Given the description of an element on the screen output the (x, y) to click on. 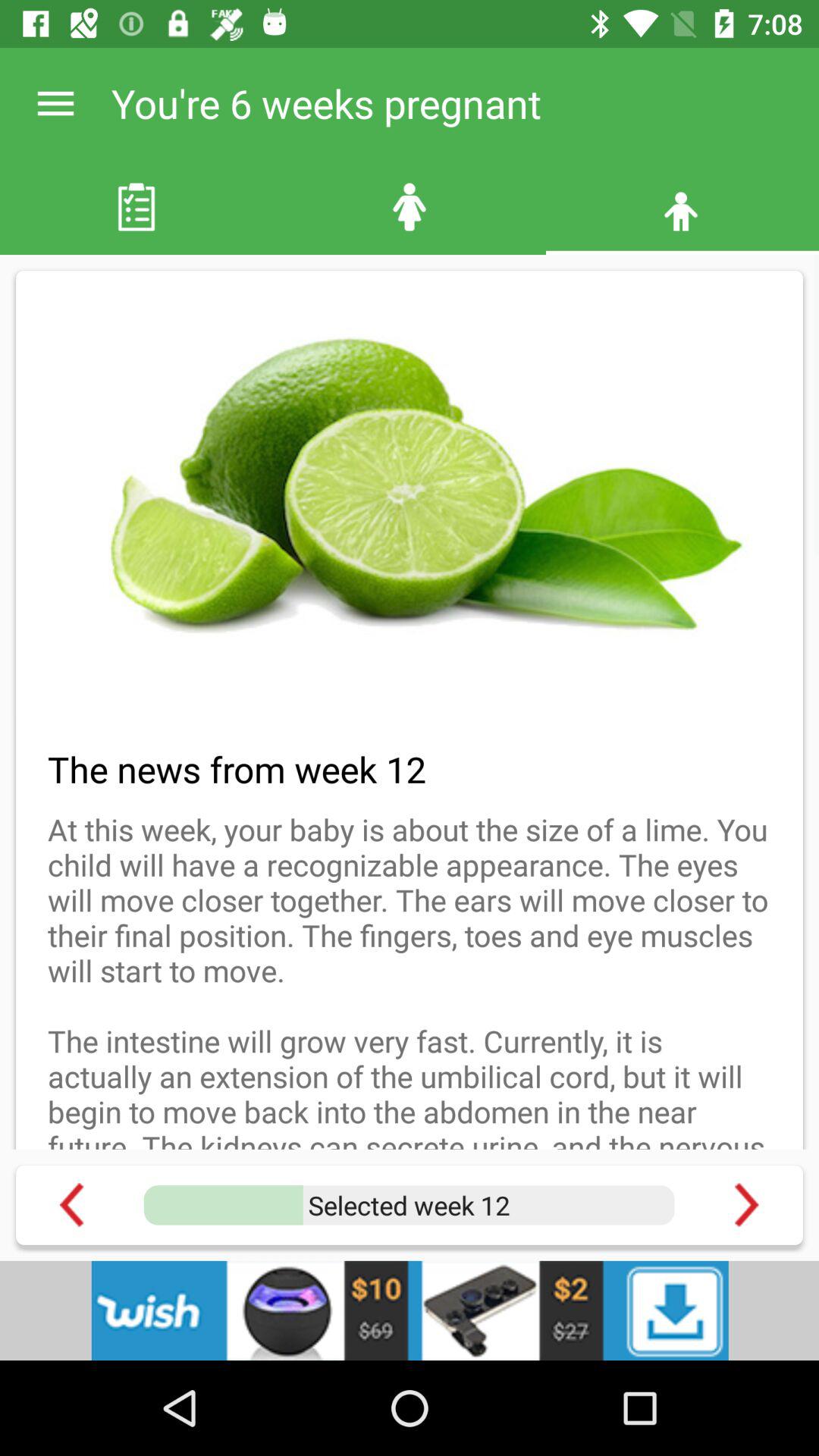
go to next week (746, 1204)
